Given the description of an element on the screen output the (x, y) to click on. 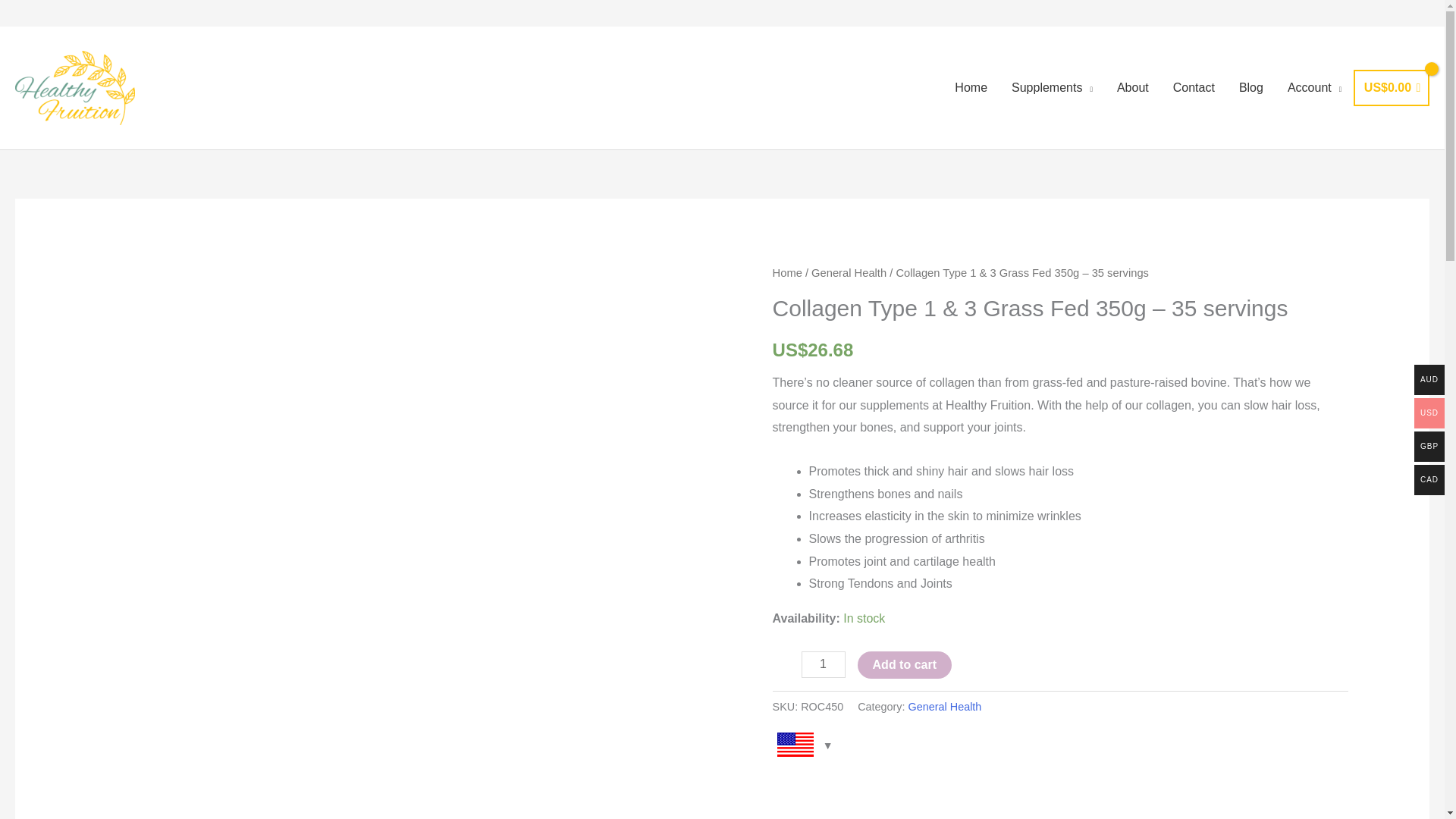
General Health (848, 272)
Account (1314, 87)
Home (787, 272)
Home (970, 87)
Please select your currency (802, 750)
Contact (1193, 87)
1 (823, 664)
